Given the description of an element on the screen output the (x, y) to click on. 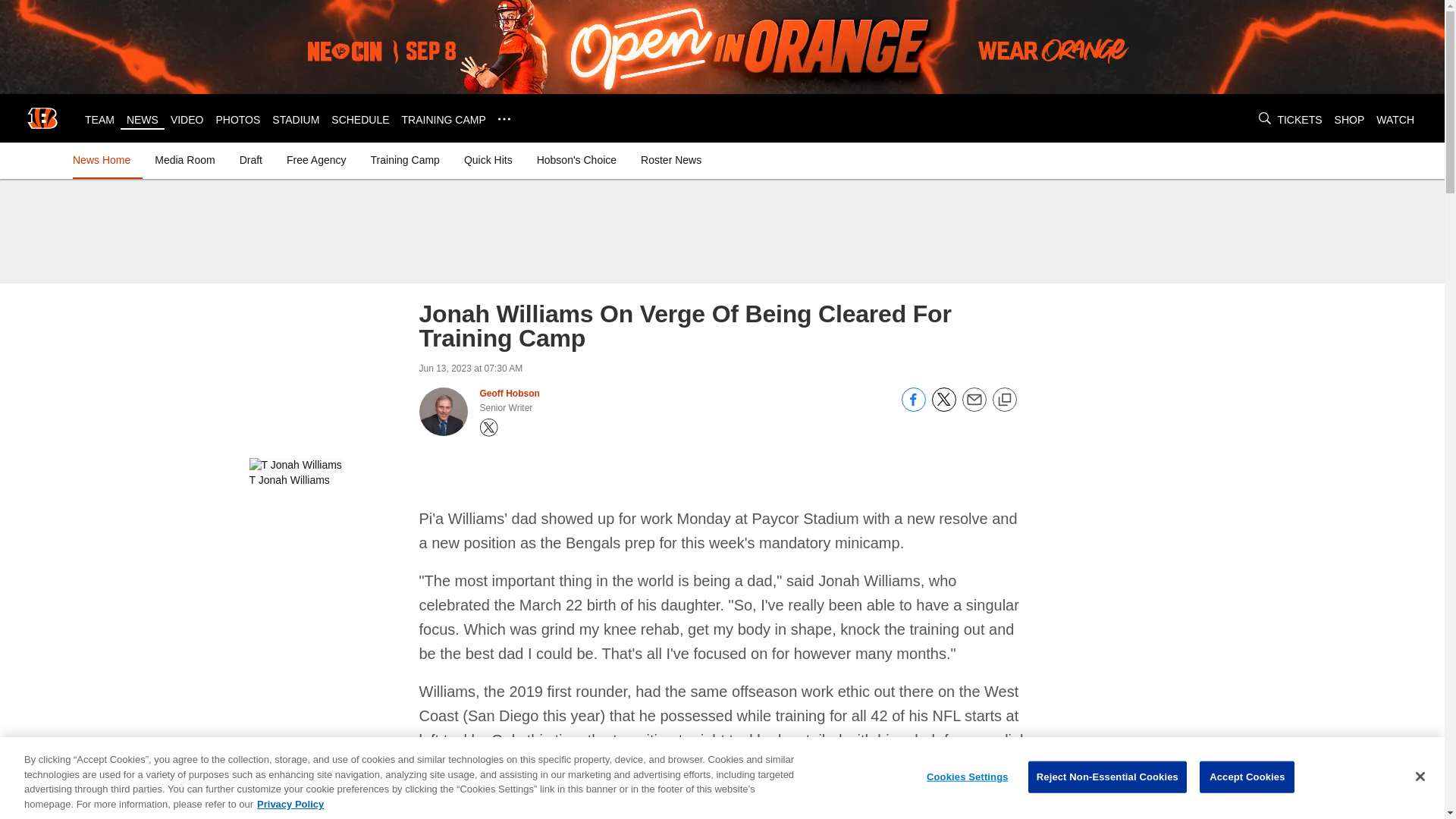
Hobson's Choice (577, 159)
Quick Hits (488, 159)
PHOTOS (237, 119)
STADIUM (295, 119)
TICKETS (1299, 119)
NEWS (142, 119)
TICKETS (1299, 119)
TRAINING CAMP (443, 119)
Roster News (670, 159)
Free Agency (316, 159)
